Given the description of an element on the screen output the (x, y) to click on. 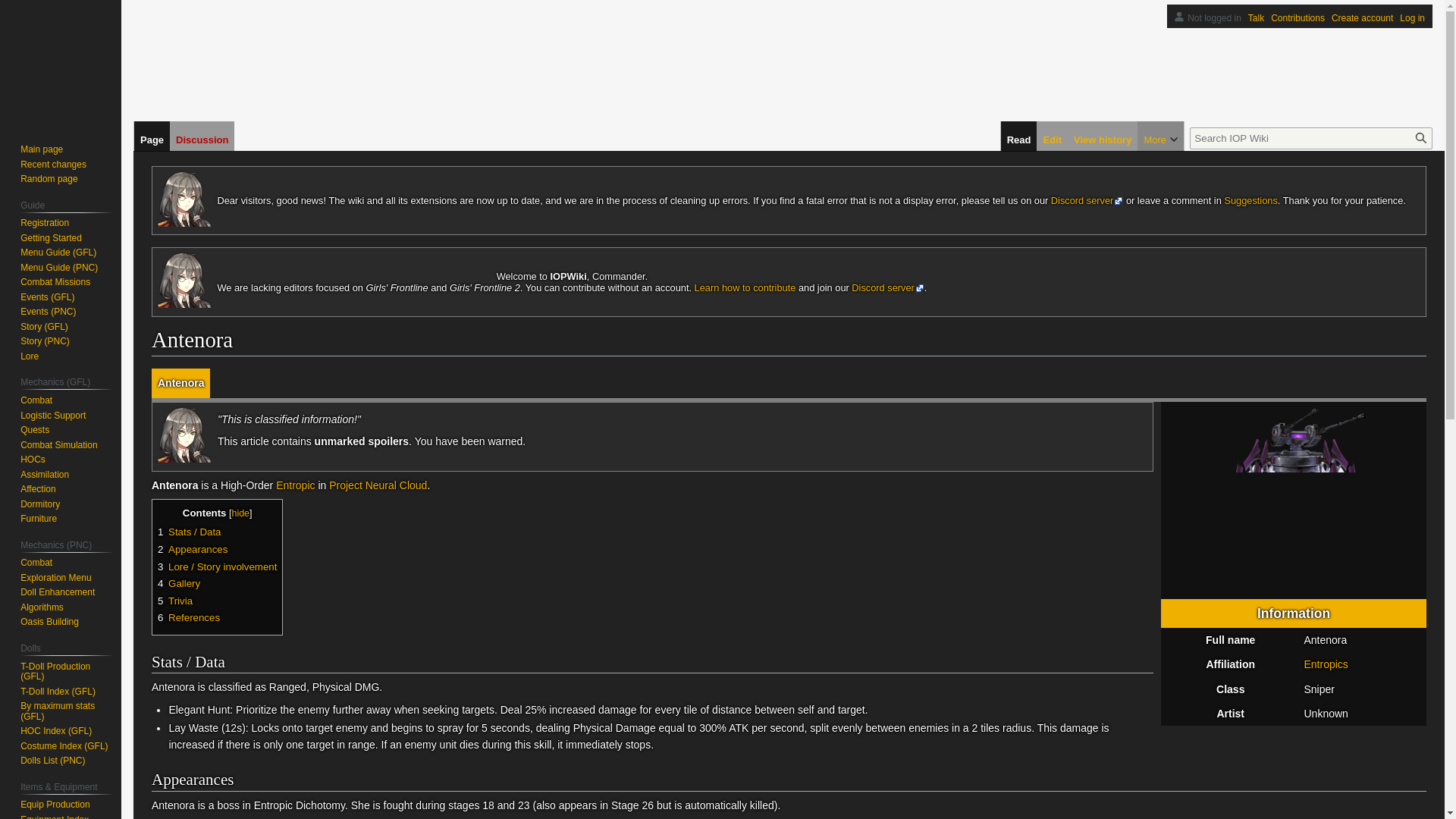
Project Neural Cloud (377, 485)
2 Appearances (192, 549)
Search (1420, 137)
Suggestions (1250, 200)
Entropics (1325, 664)
Antenora (180, 382)
Project Neural Cloud (377, 485)
IOP Wiki:Guideline (745, 287)
Search (1420, 137)
Go (1420, 137)
